Given the description of an element on the screen output the (x, y) to click on. 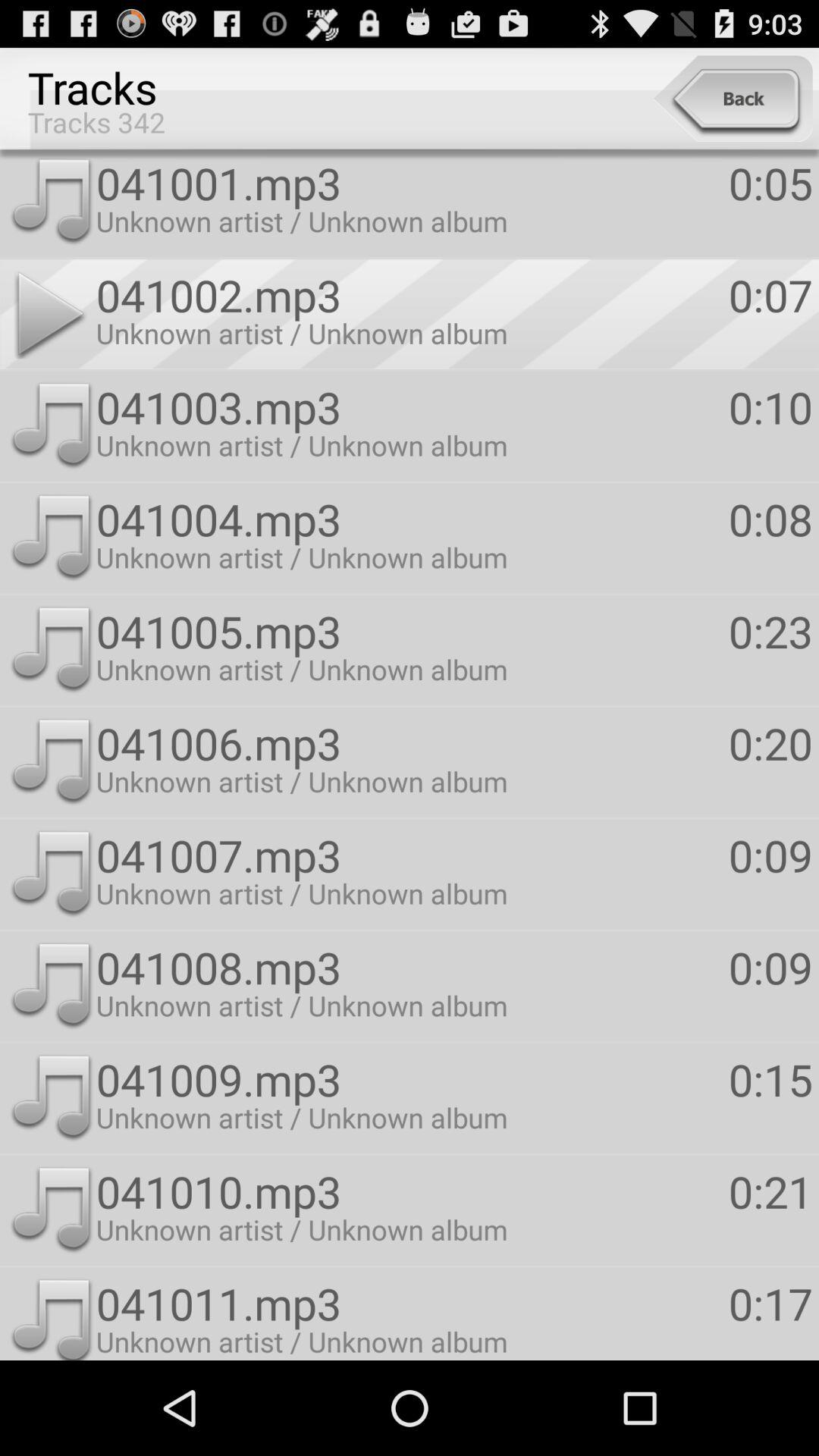
go back (732, 98)
